Given the description of an element on the screen output the (x, y) to click on. 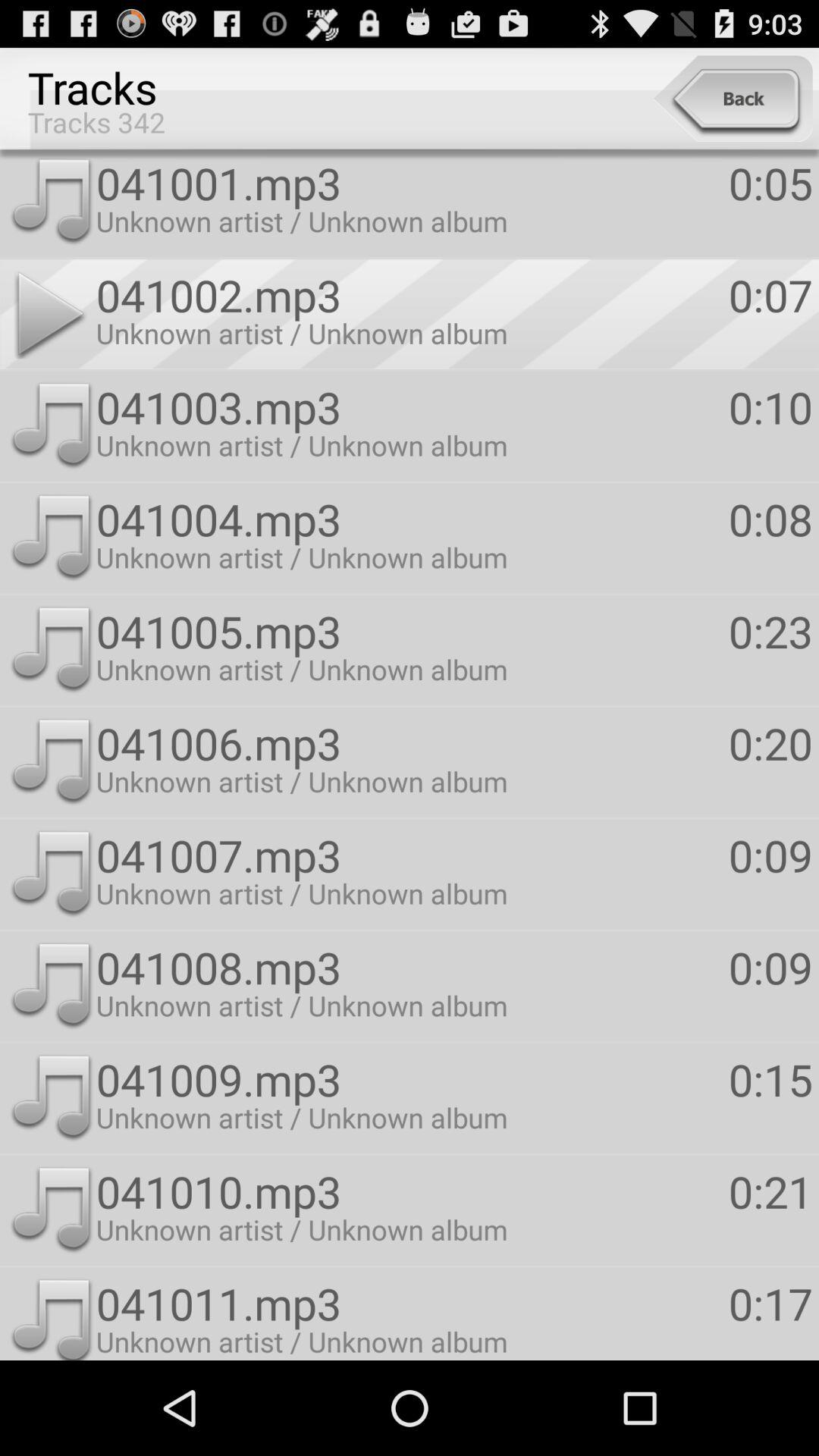
go back (732, 98)
